Given the description of an element on the screen output the (x, y) to click on. 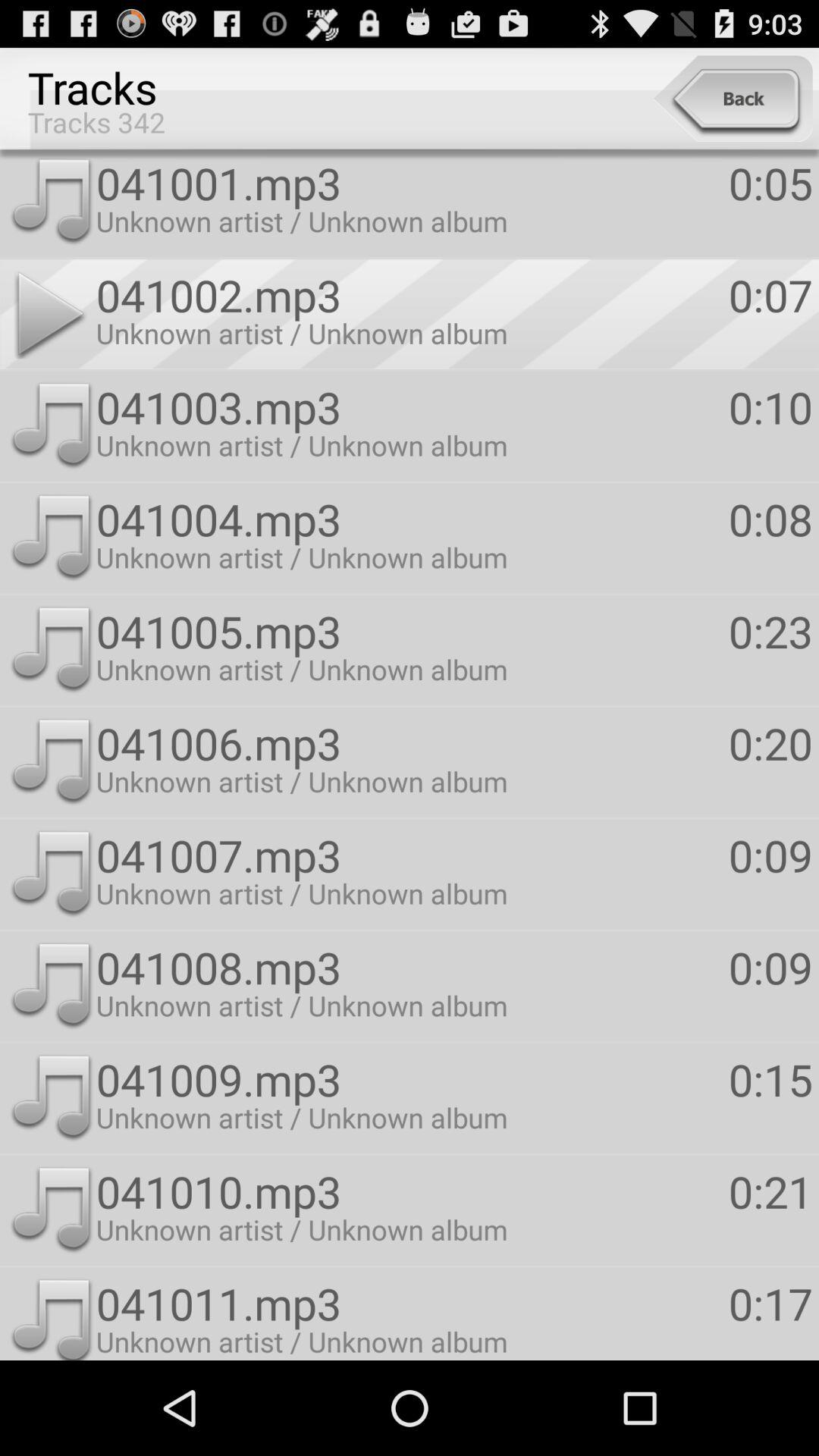
go back (732, 98)
